Given the description of an element on the screen output the (x, y) to click on. 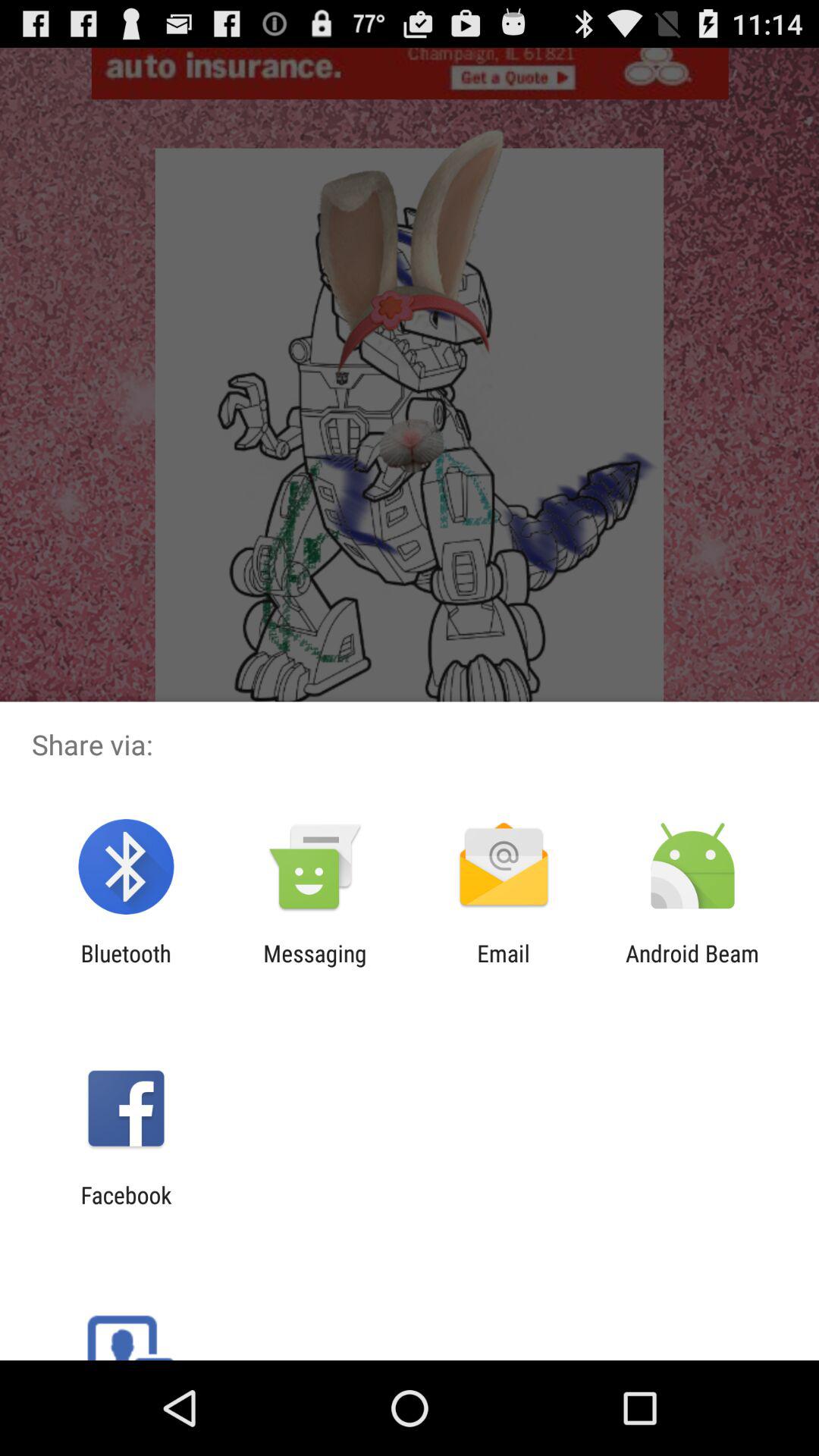
flip to the messaging item (314, 966)
